Given the description of an element on the screen output the (x, y) to click on. 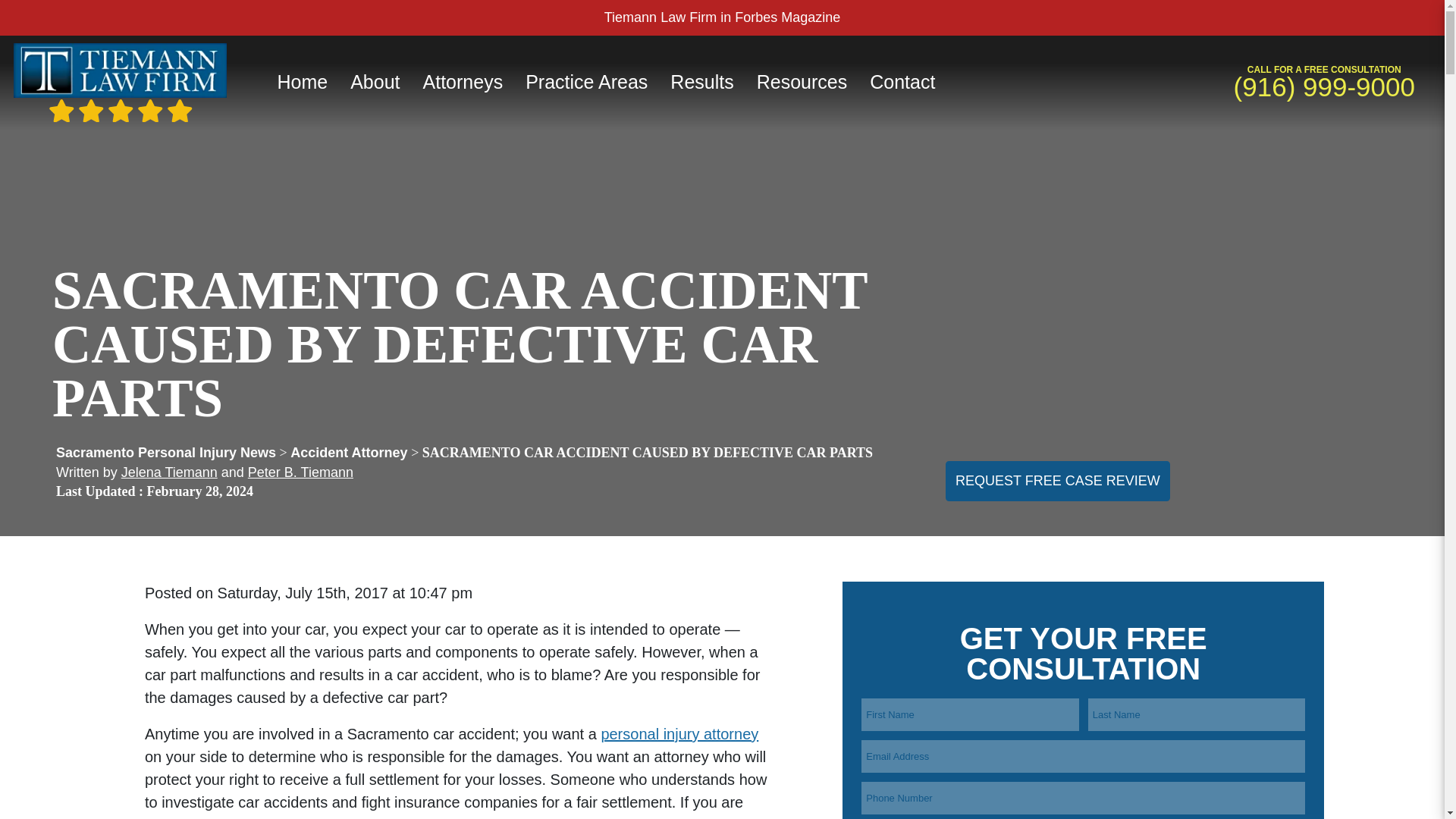
Resources (802, 82)
About (374, 82)
Contact (902, 82)
Tiemann Law Firm in Forbes Magazine (722, 17)
About (374, 82)
Home (301, 82)
Attorneys (463, 82)
Attorneys (463, 82)
Practice Areas (586, 82)
Results (701, 82)
